Given the description of an element on the screen output the (x, y) to click on. 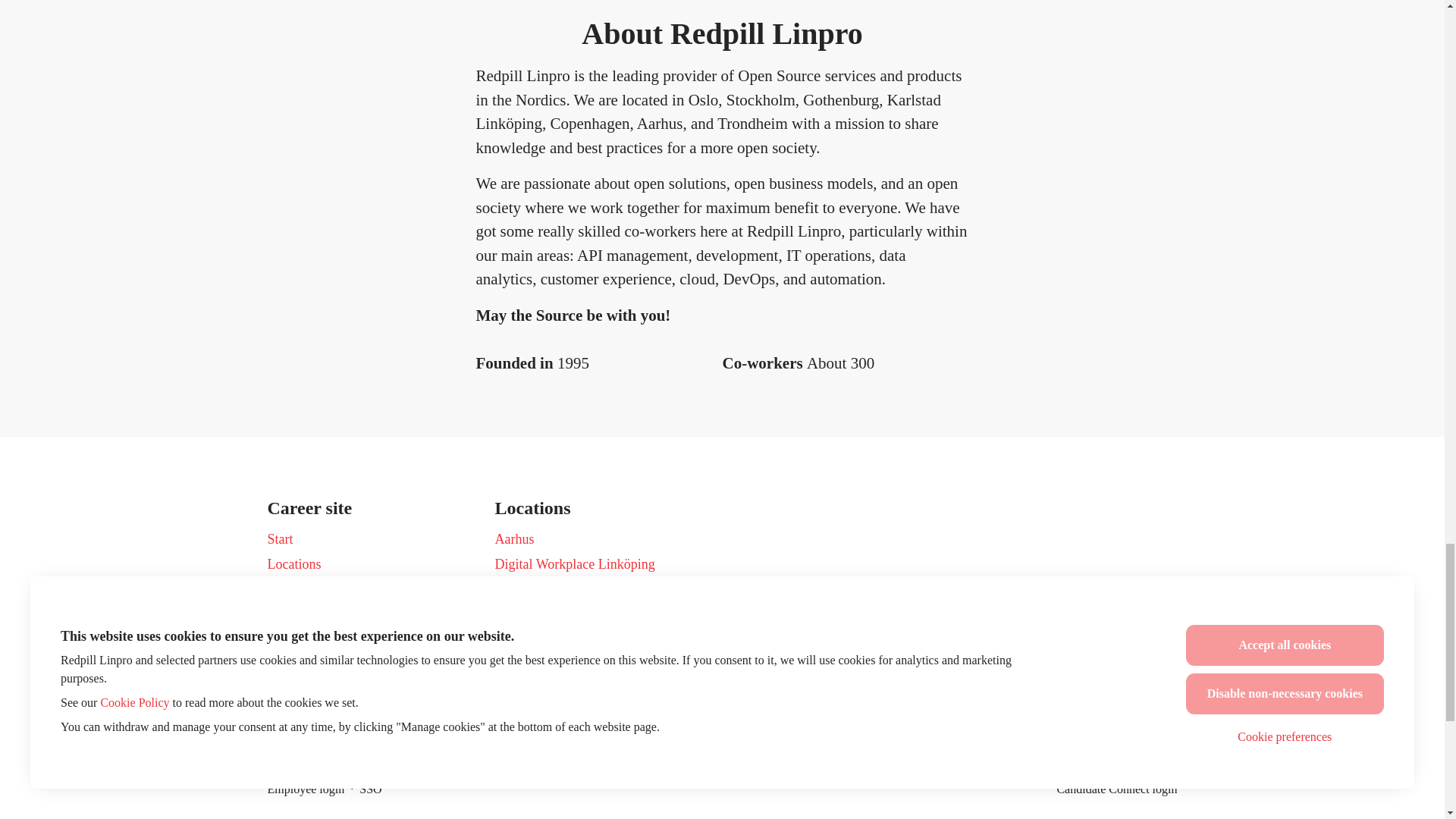
Manage cookies (310, 694)
Trondheim (524, 589)
All locations (529, 690)
Blog posts and IT Talks (331, 640)
linkedin (1140, 692)
Stockholm (524, 615)
Jobs (278, 615)
Start (279, 538)
Oslo (507, 640)
Aarhus (514, 538)
